Given the description of an element on the screen output the (x, y) to click on. 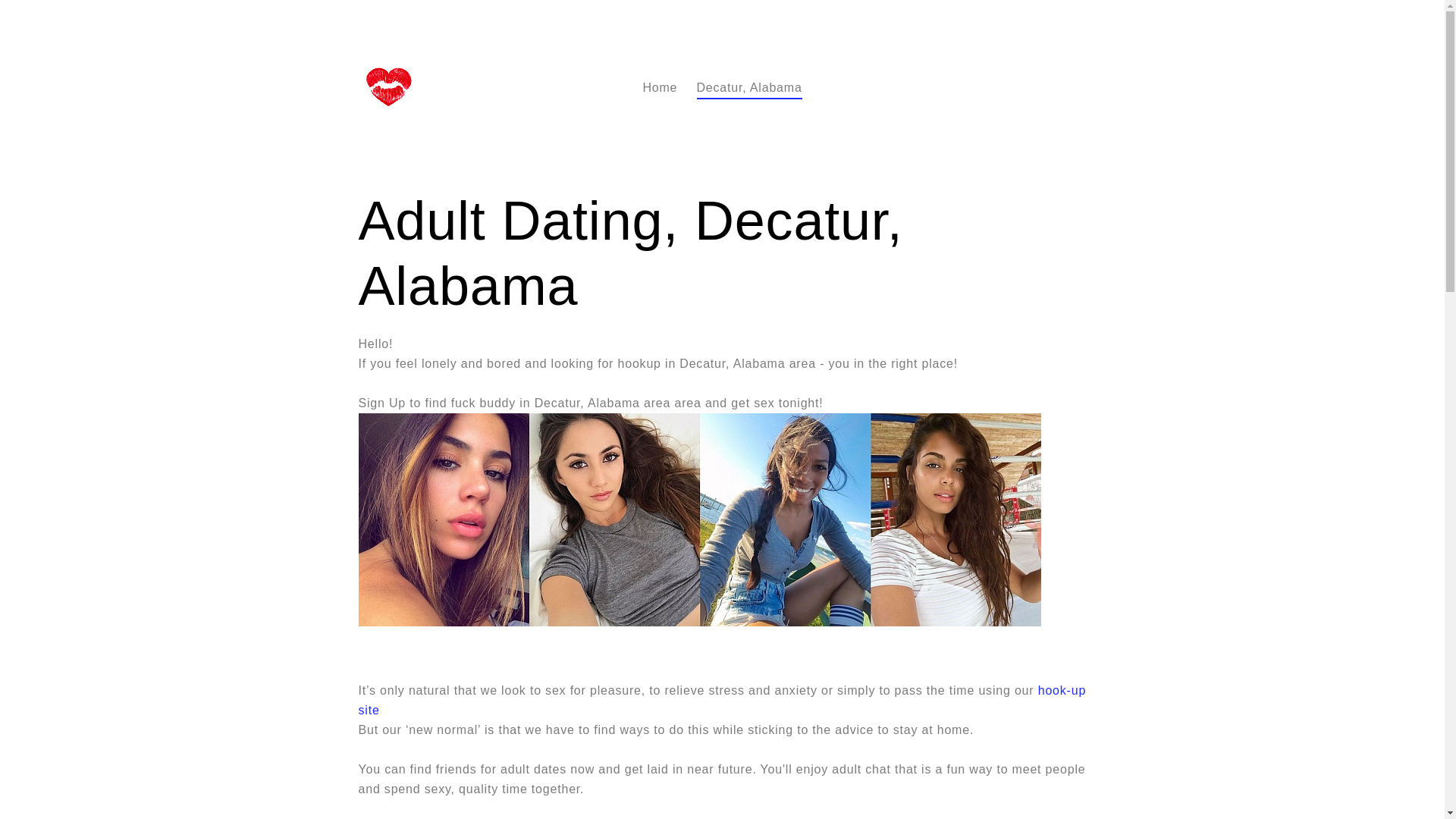
hook-up site (722, 700)
Decatur, Alabama (749, 87)
Home (659, 87)
